Given the description of an element on the screen output the (x, y) to click on. 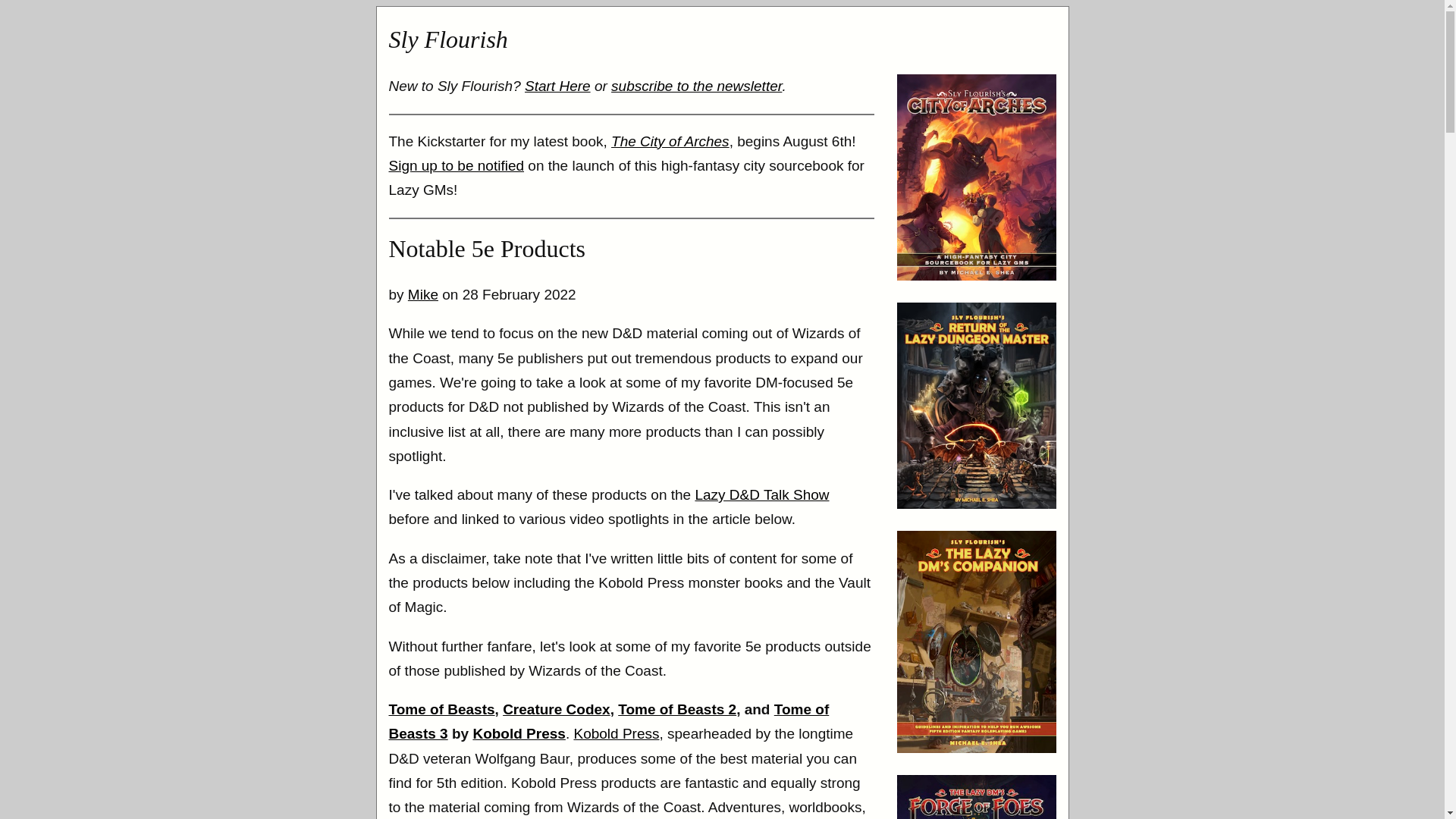
Kobold Press (616, 733)
Tome of Beasts (441, 709)
Kobold Press (517, 733)
The City of Arches (670, 141)
Sly Flourish (447, 39)
Tome of Beasts 2 (676, 709)
Mike (422, 294)
Start Here (557, 85)
Tome of Beasts 3 (608, 721)
subscribe to the newsletter (696, 85)
Sign up to be notified (456, 165)
Creature Codex (556, 709)
